Given the description of an element on the screen output the (x, y) to click on. 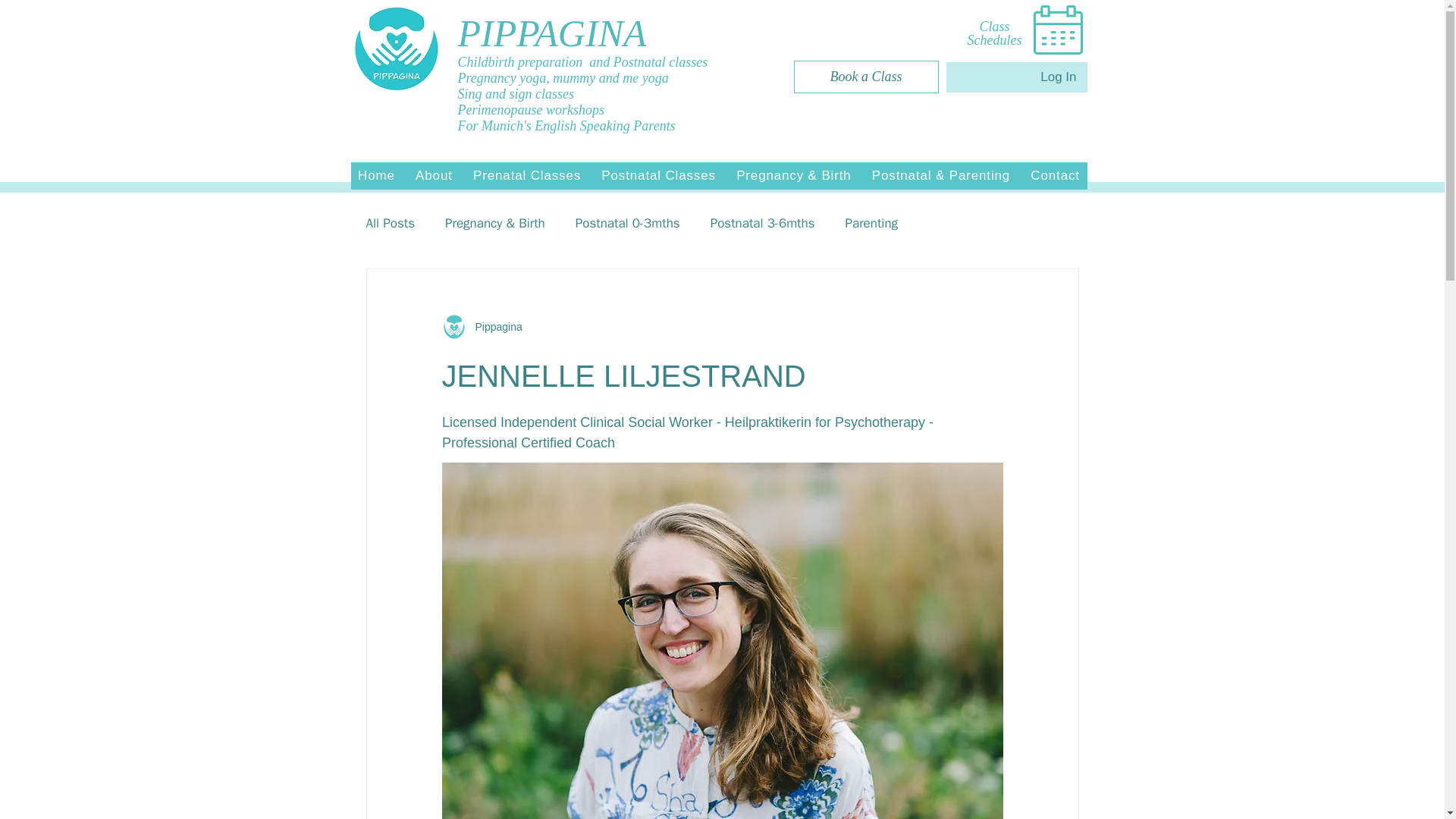
Prenatal Classes (526, 175)
Home (375, 175)
Contact (1055, 175)
Postnatal Classes (658, 175)
PIPPAGINA (558, 32)
Postnatal 3-6mths (762, 221)
Parenting (871, 221)
Log In (1042, 77)
Book a Class (865, 76)
All Posts (389, 221)
Pippagina (493, 326)
About (433, 175)
Postnatal 0-3mths (627, 221)
Pippagina (481, 326)
